Given the description of an element on the screen output the (x, y) to click on. 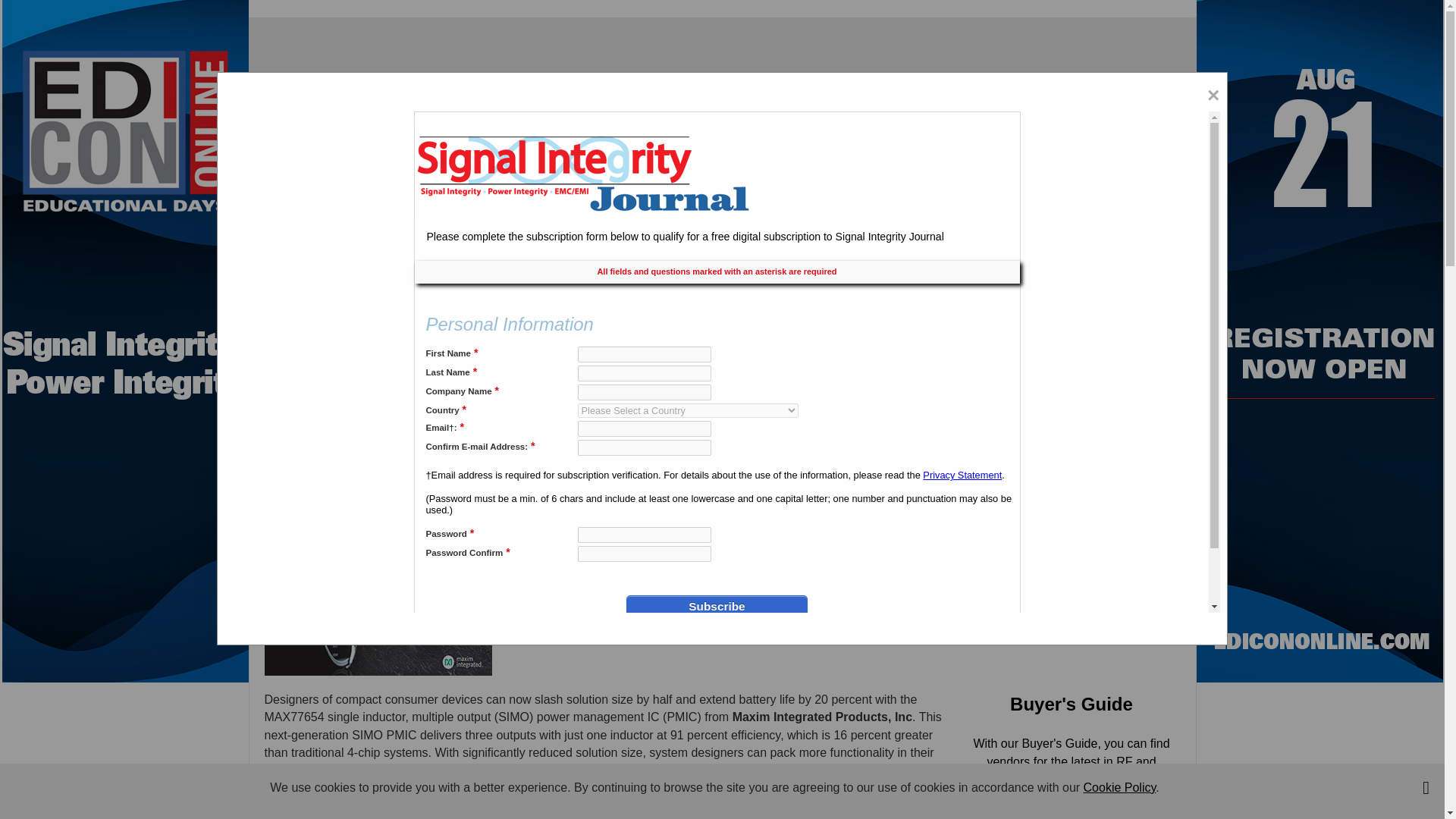
3rd party ad content (1087, 569)
3rd party ad content (721, 66)
